Given the description of an element on the screen output the (x, y) to click on. 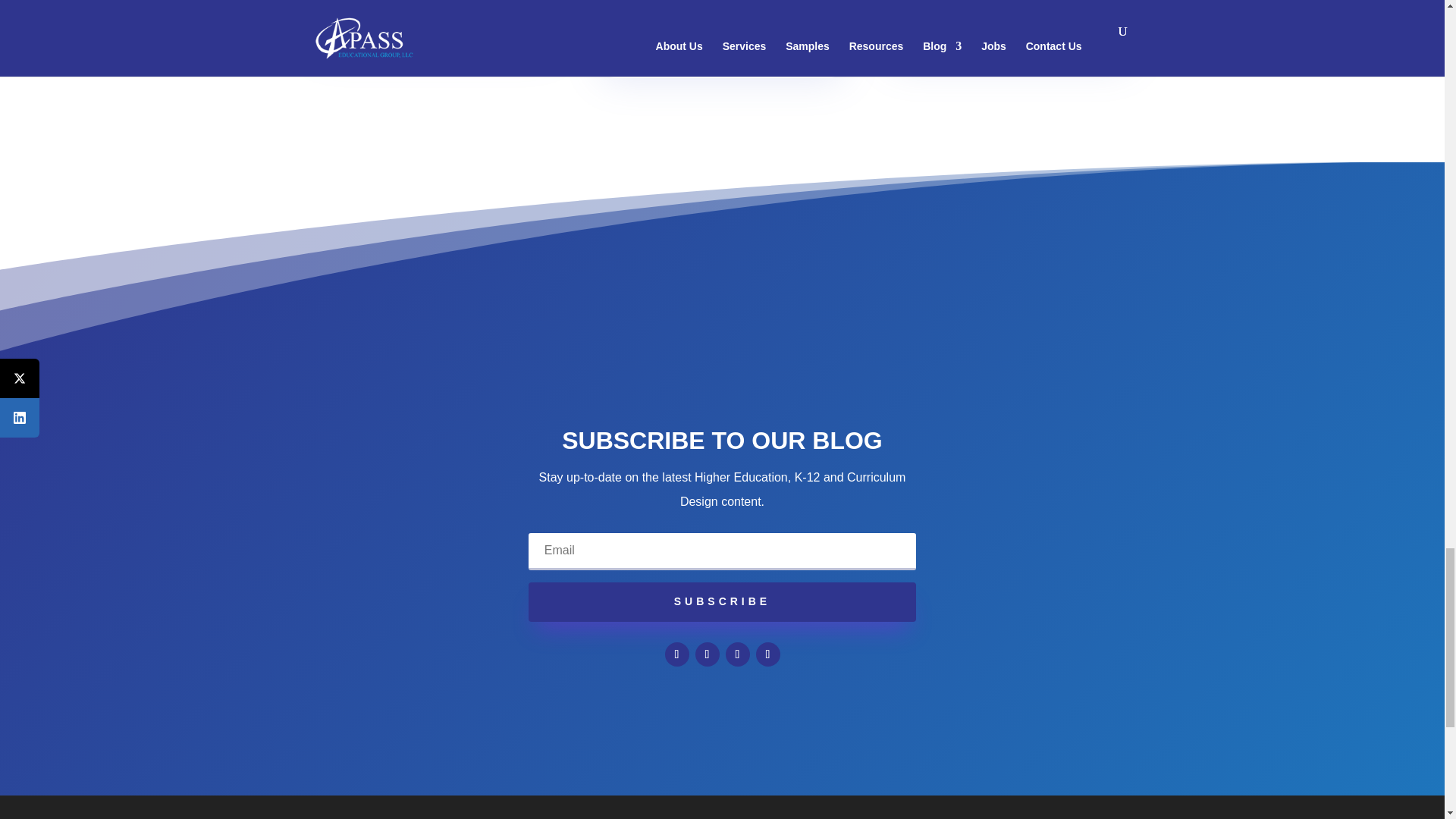
SUBSCRIBE (721, 601)
Follow on Facebook (675, 654)
Follow on LinkedIn (737, 654)
Follow on Twitter (706, 654)
Follow on Instagram (766, 654)
